Given the description of an element on the screen output the (x, y) to click on. 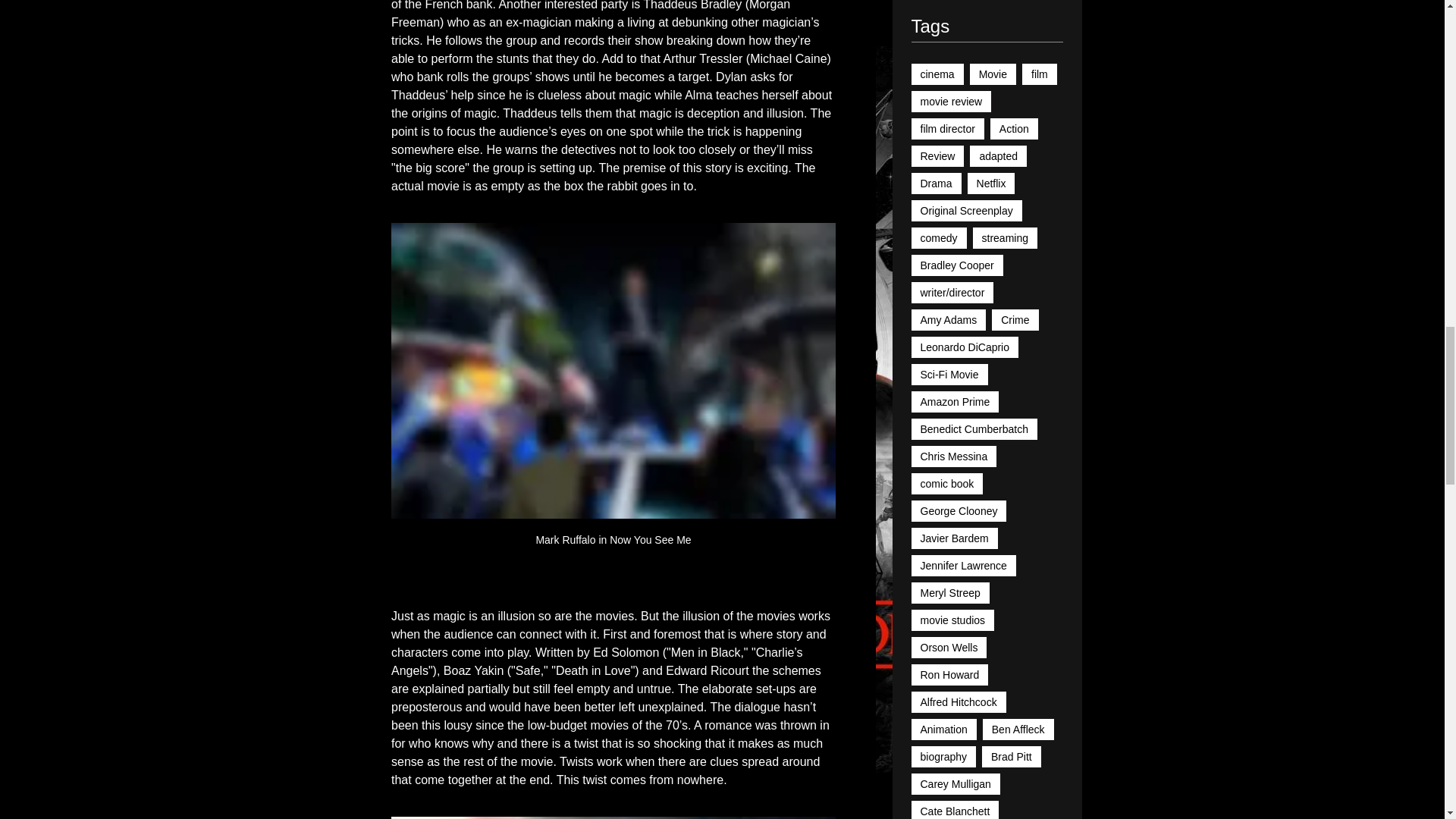
film director (947, 128)
Bradley Cooper (957, 265)
Action (1014, 128)
Review (937, 156)
Movie (992, 74)
streaming (1004, 237)
movie review (951, 101)
Netflix (991, 183)
Drama (935, 183)
adapted (997, 156)
Original Screenplay (966, 210)
film (1039, 74)
comedy (938, 237)
cinema (937, 74)
